Given the description of an element on the screen output the (x, y) to click on. 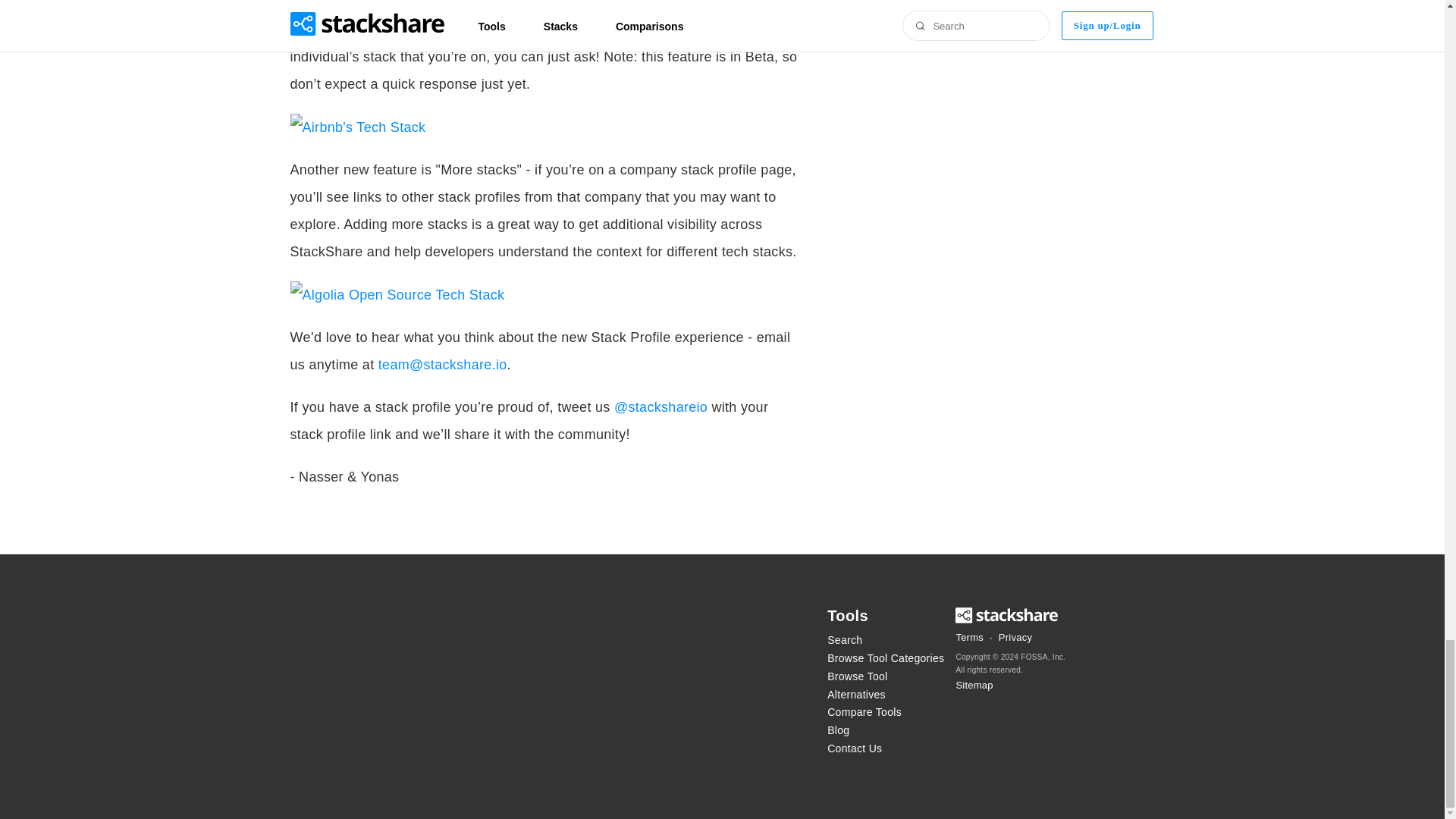
Browse Tool Alternatives (885, 686)
Compare Tools (885, 712)
Sitemap (973, 685)
Contact Us (885, 749)
Privacy (1015, 637)
Compare Tools (885, 712)
Browse Tool Categories (885, 659)
Terms (969, 637)
Search (885, 640)
Blog (885, 730)
